Given the description of an element on the screen output the (x, y) to click on. 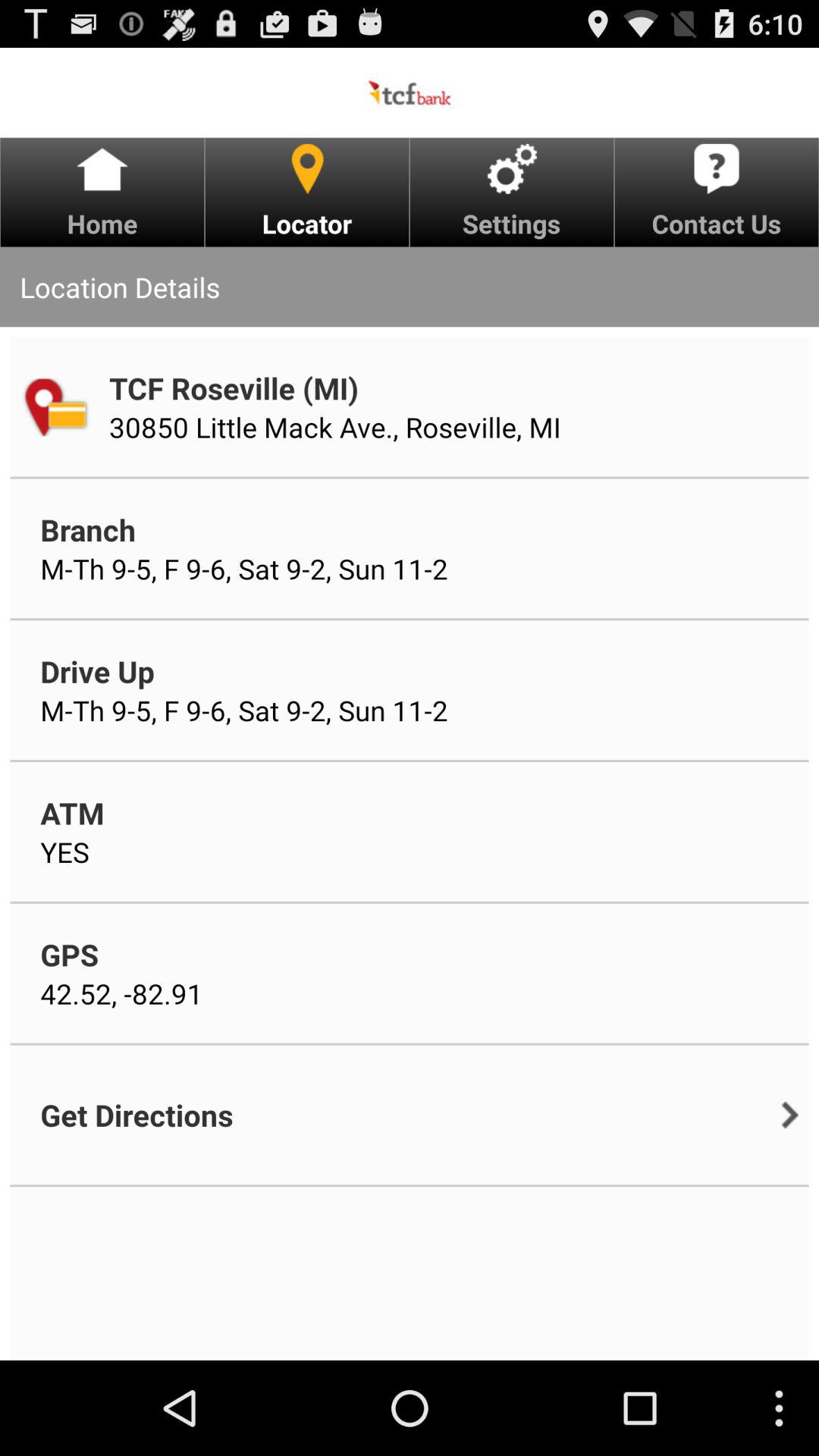
jump until the get directions icon (136, 1114)
